Given the description of an element on the screen output the (x, y) to click on. 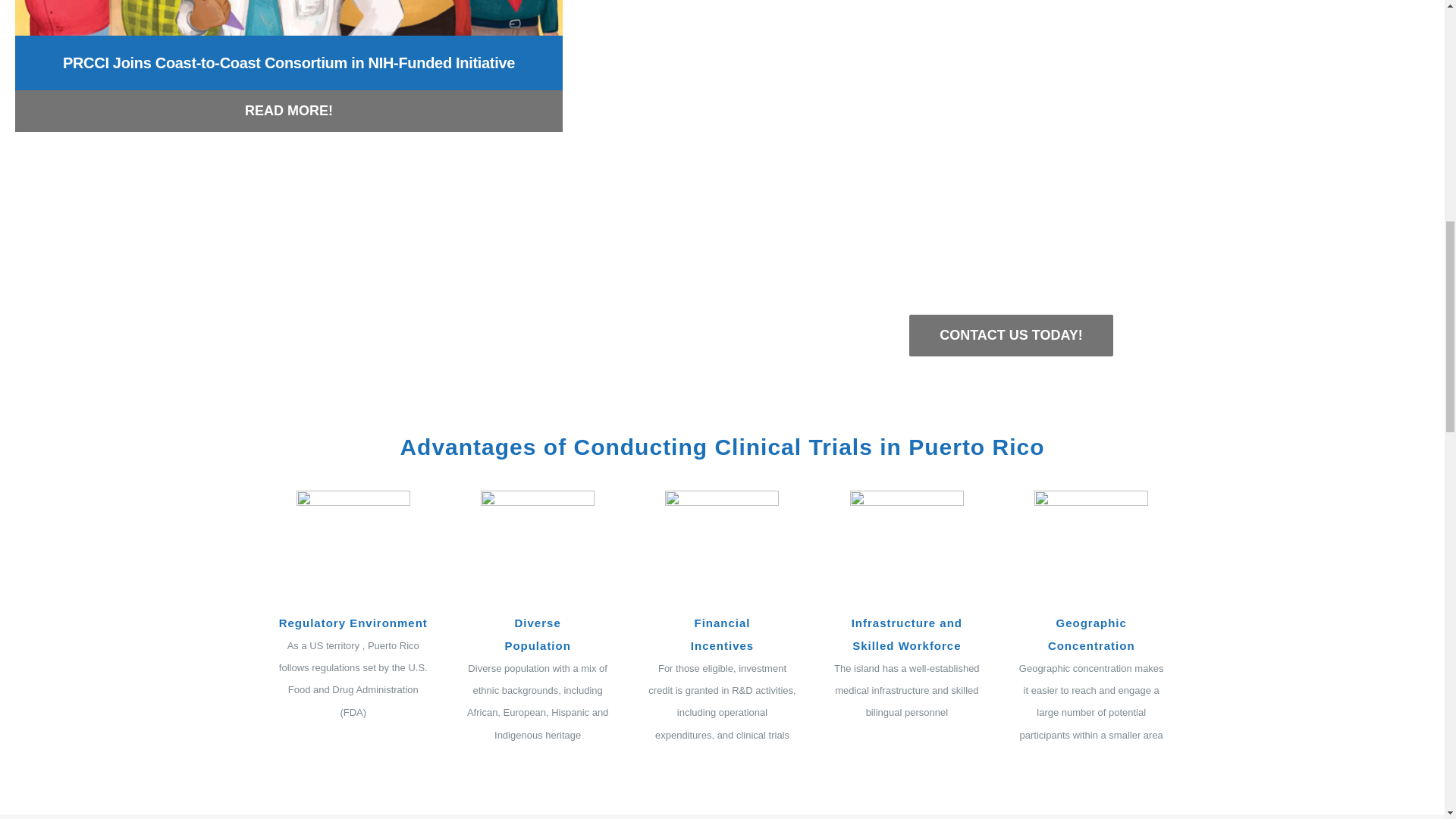
CONTACT US TODAY! (1010, 335)
2 (537, 547)
1 (353, 547)
READ MORE! (288, 110)
3 (721, 547)
4 (906, 547)
5 (1090, 547)
